Given the description of an element on the screen output the (x, y) to click on. 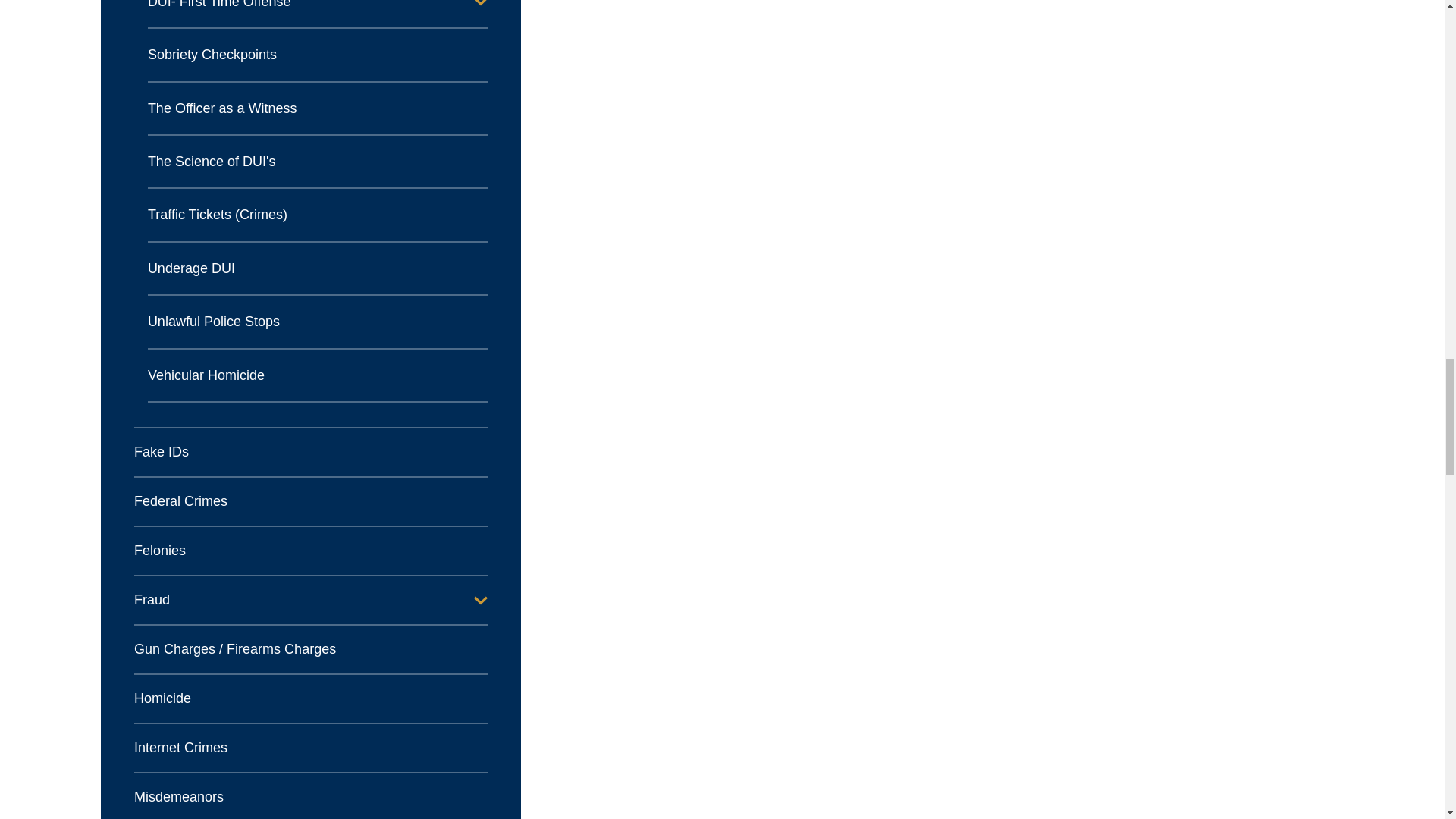
Open child menu of Fraud (480, 600)
Open child menu of DUI- First Time Offense (480, 4)
